Given the description of an element on the screen output the (x, y) to click on. 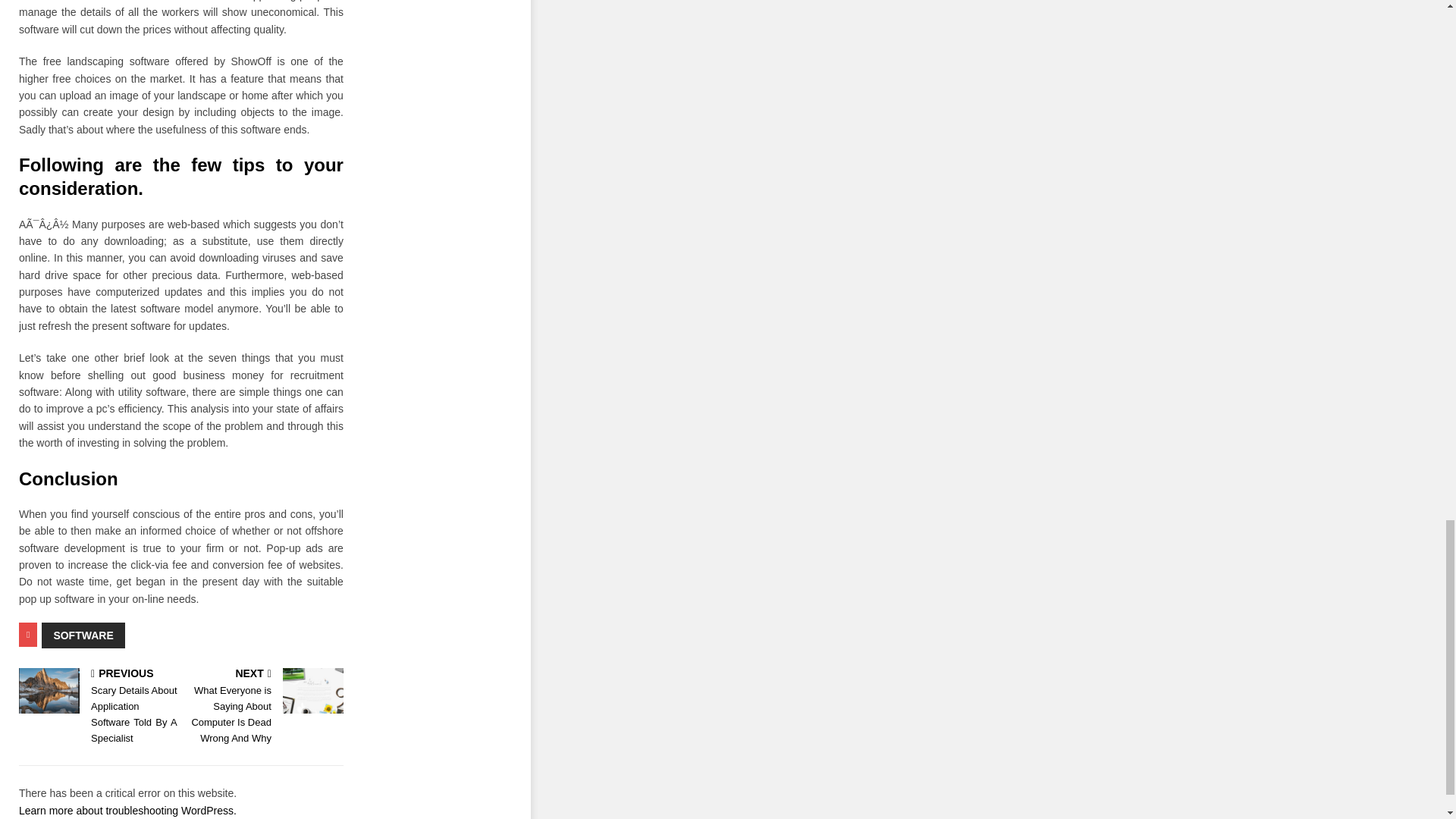
Learn more about troubleshooting WordPress. (126, 810)
What Everyone is Saying About Computer Is Dead Wrong And Why (312, 690)
SOFTWARE (82, 635)
